Given the description of an element on the screen output the (x, y) to click on. 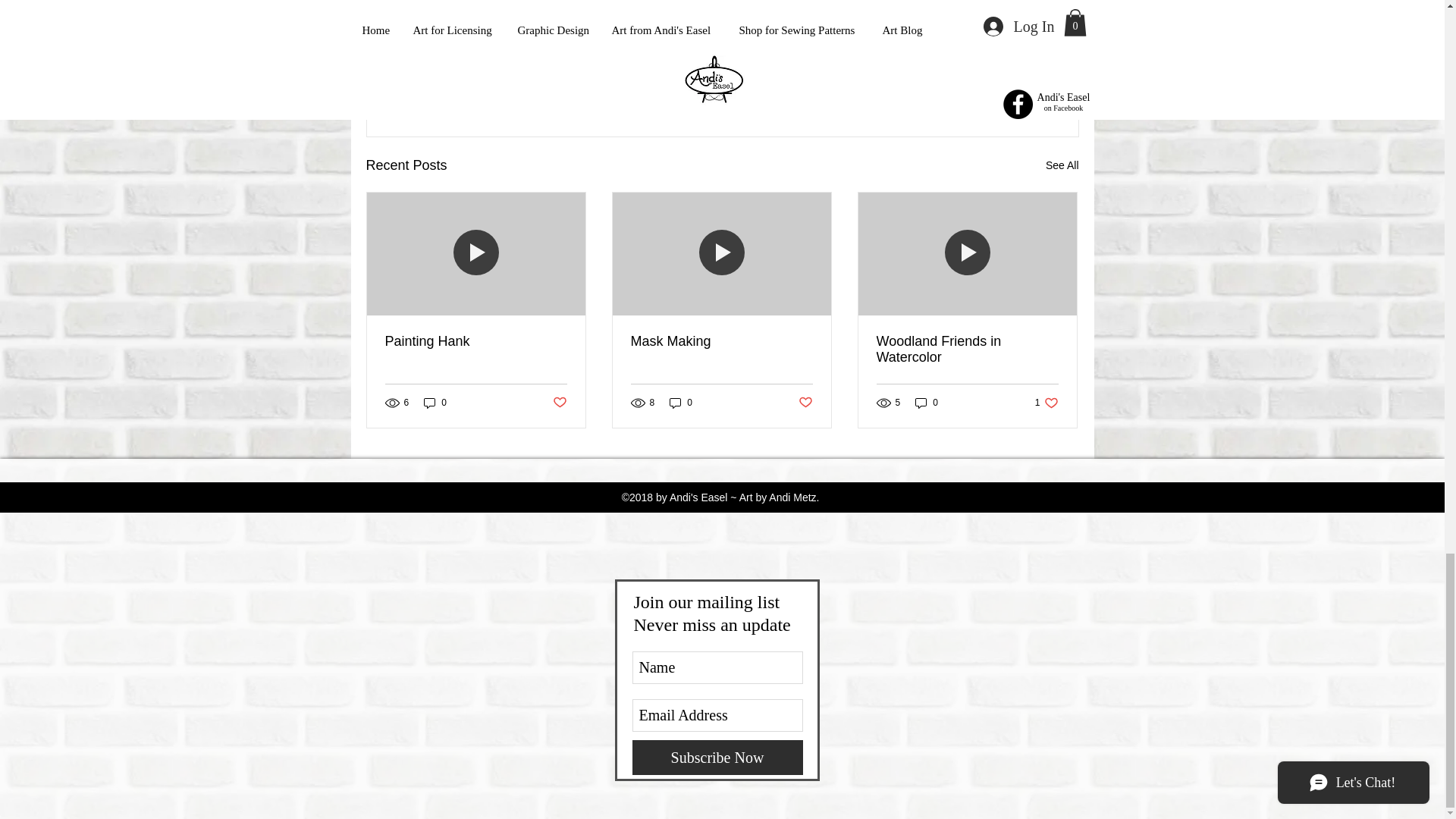
0 (681, 402)
Mask Making (721, 341)
Woodland Friends in Watercolor (990, 83)
Post not marked as liked (967, 349)
Painting Hank (804, 402)
0 (476, 341)
See All (435, 402)
0 (1061, 165)
Post not marked as liked (926, 402)
